Given the description of an element on the screen output the (x, y) to click on. 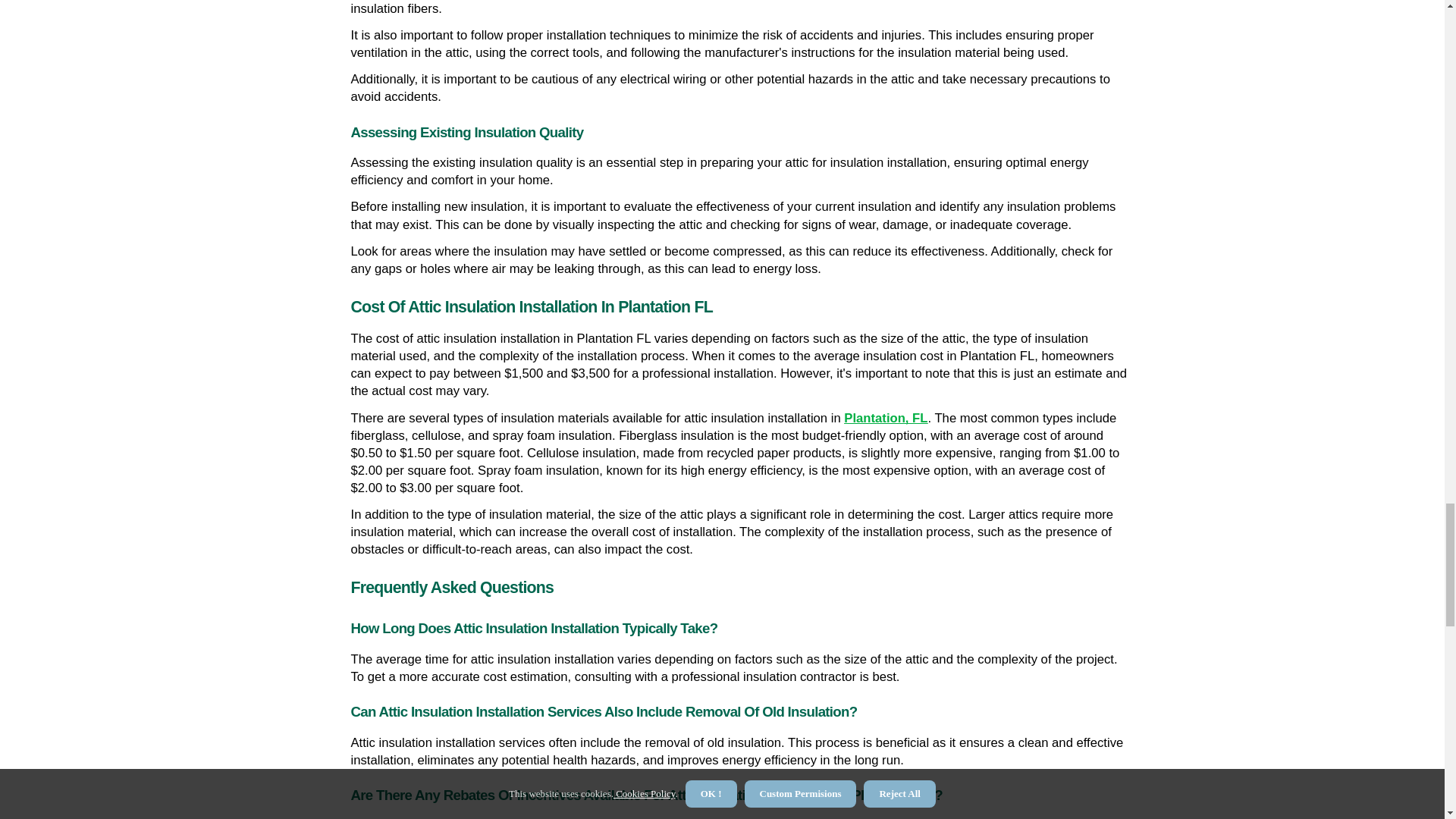
Plantation, FL (885, 418)
